Given the description of an element on the screen output the (x, y) to click on. 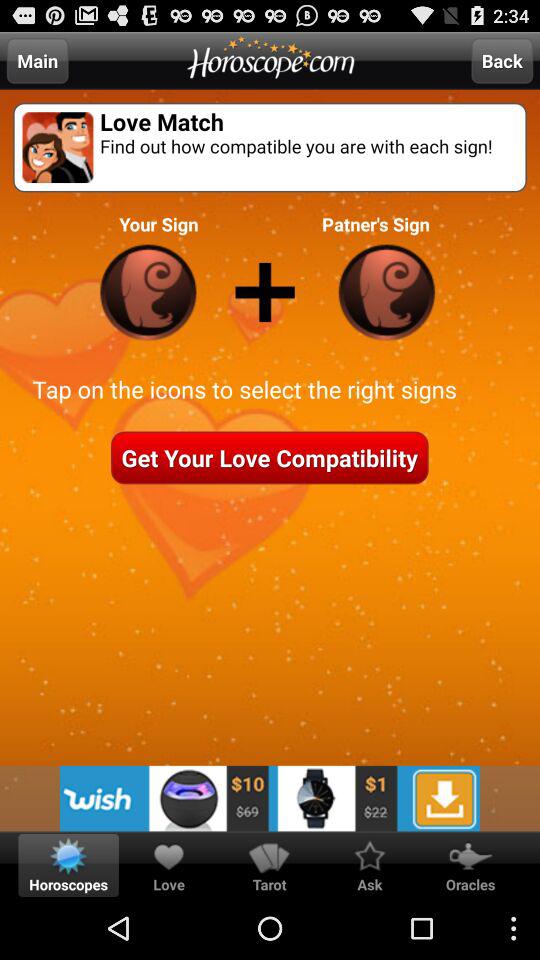
select sign (147, 292)
